Given the description of an element on the screen output the (x, y) to click on. 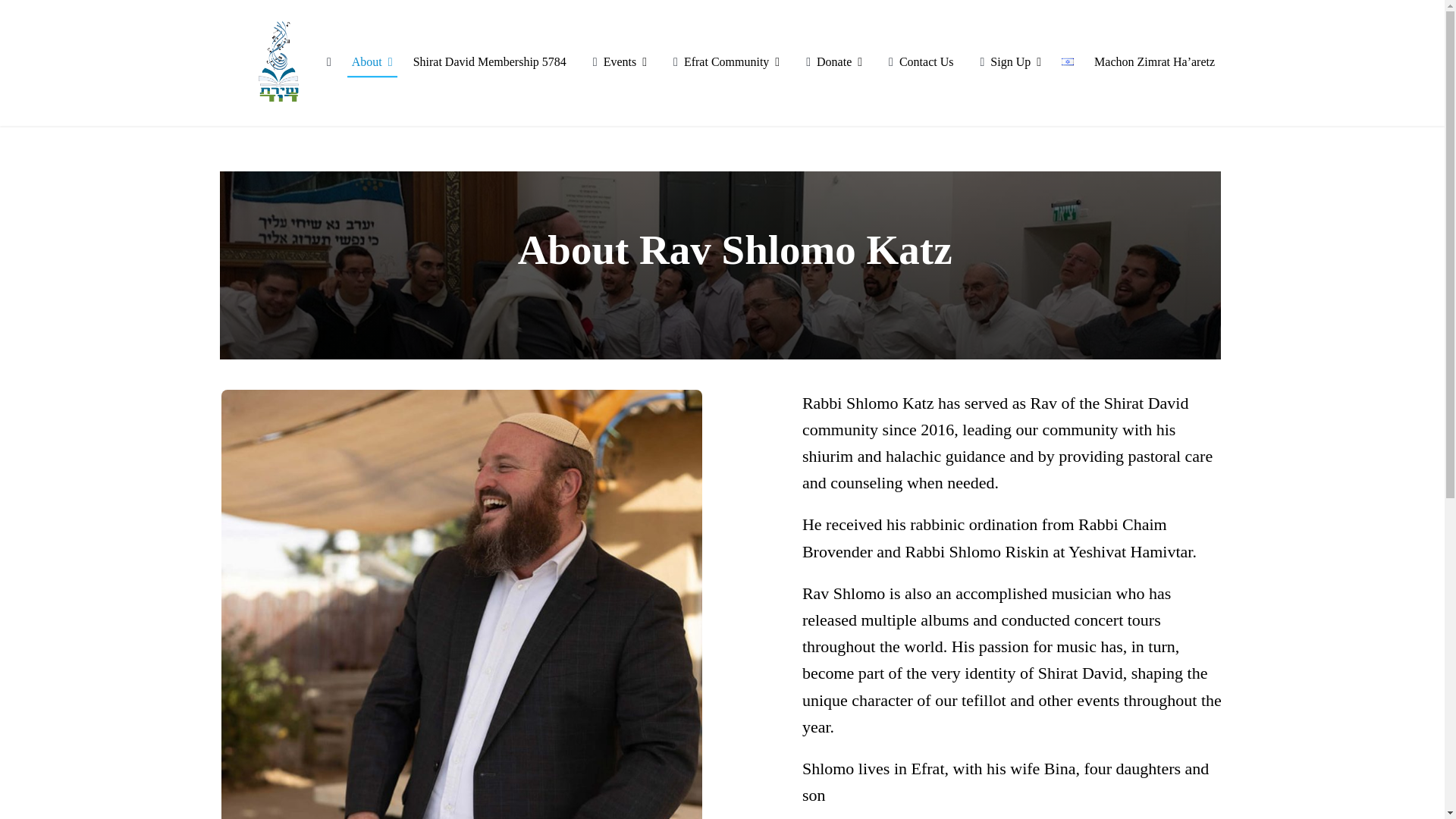
About (372, 62)
Donate (830, 62)
Events (616, 62)
Sign Up (1007, 62)
Contact Us (917, 62)
Efrat Community (723, 62)
Shirat David Membership 5784 (489, 62)
